Given the description of an element on the screen output the (x, y) to click on. 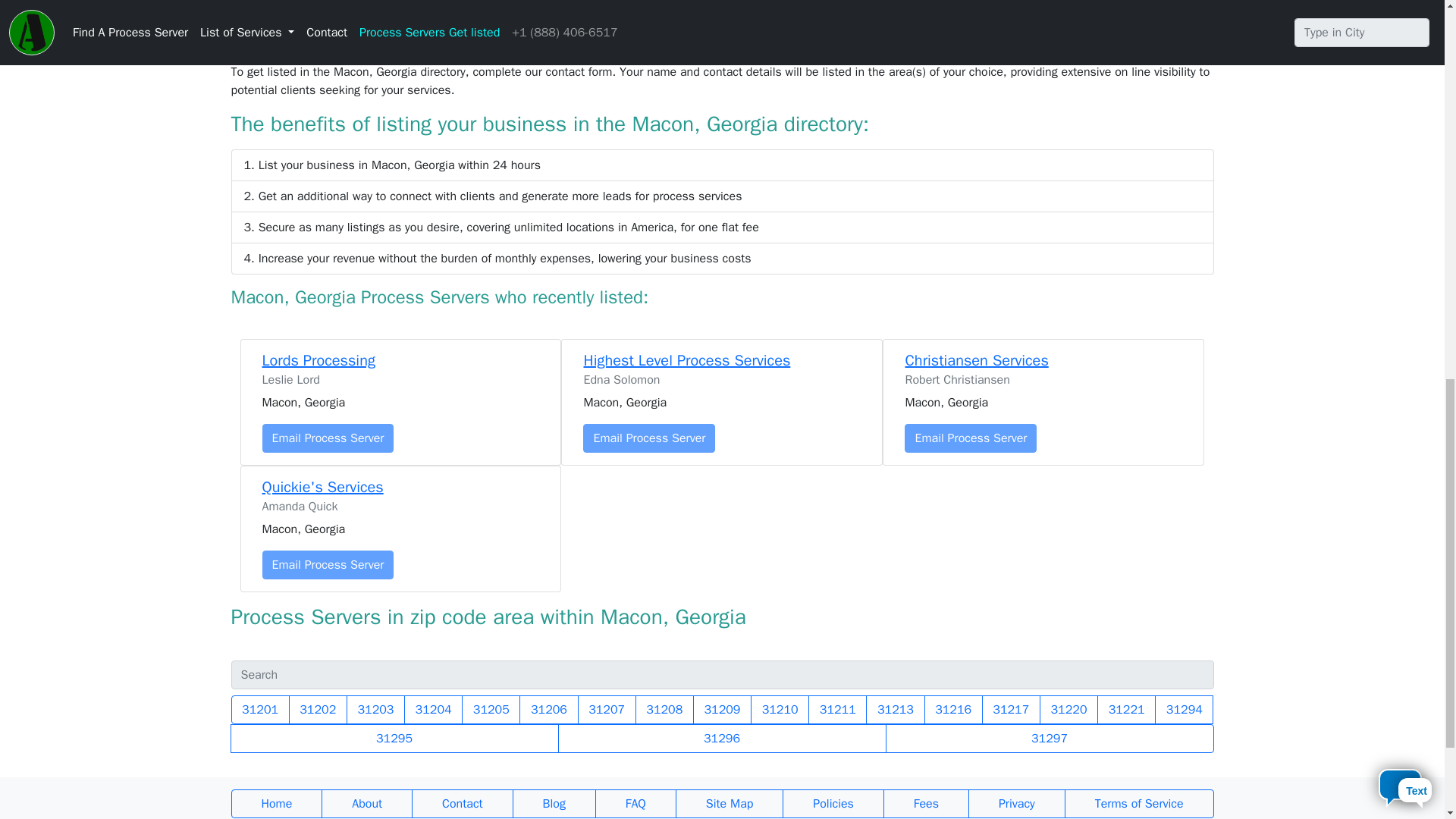
31205 (490, 709)
31210 (780, 709)
Christiansen Services (976, 360)
31207 (607, 709)
31213 (895, 709)
31202 (317, 709)
31206 (548, 709)
31208 (664, 709)
Lords Processing (318, 360)
Quickie's Services (323, 486)
Email Process Server (970, 438)
31203 (375, 709)
Email Process Server (328, 564)
Email Process Server (328, 438)
31211 (837, 709)
